Given the description of an element on the screen output the (x, y) to click on. 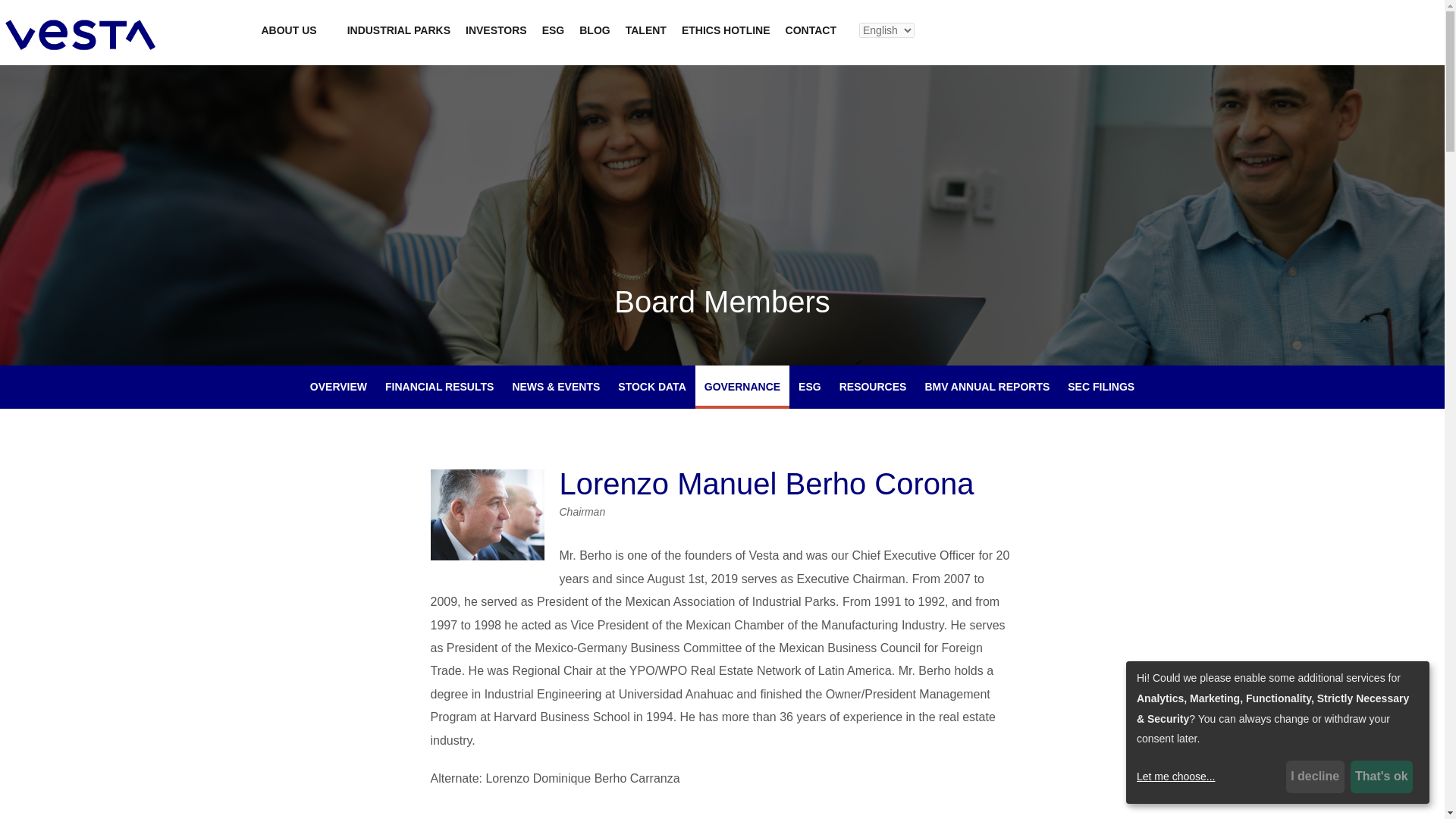
Opens in a new window (725, 30)
INDUSTRIAL PARKS (398, 30)
I decline (1314, 776)
INVESTORS (496, 30)
Let me choose... (1209, 776)
Opens in a new window (809, 386)
That's ok (1381, 776)
ABOUT US (287, 30)
Lorenzo Manuel Berho Corona (487, 514)
